Given the description of an element on the screen output the (x, y) to click on. 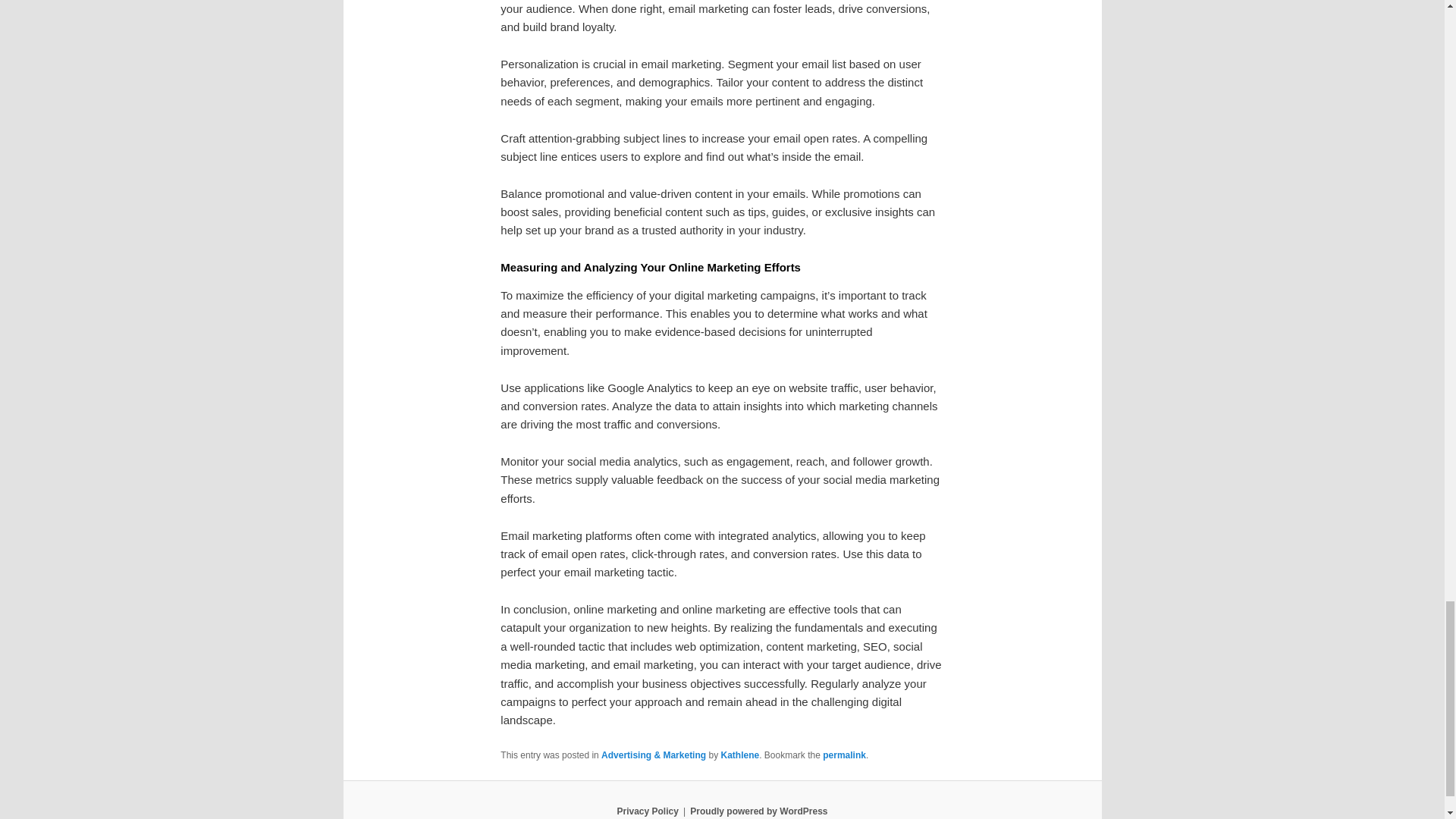
Semantic Personal Publishing Platform (758, 810)
Privacy Policy (646, 810)
permalink (844, 755)
Proudly powered by WordPress (758, 810)
Kathlene (739, 755)
